Given the description of an element on the screen output the (x, y) to click on. 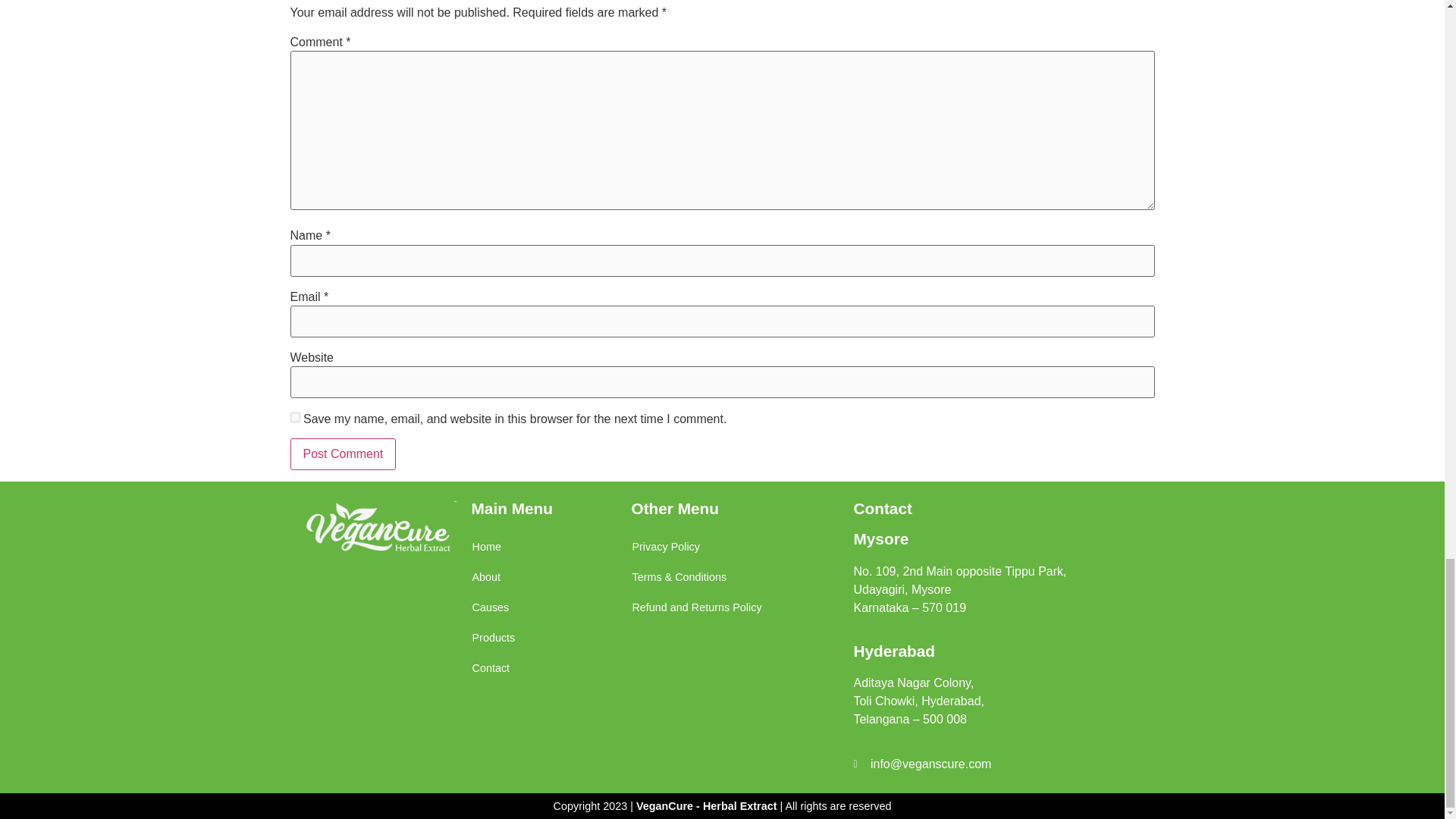
Post Comment (342, 454)
Post Comment (342, 454)
yes (294, 417)
